Given the description of an element on the screen output the (x, y) to click on. 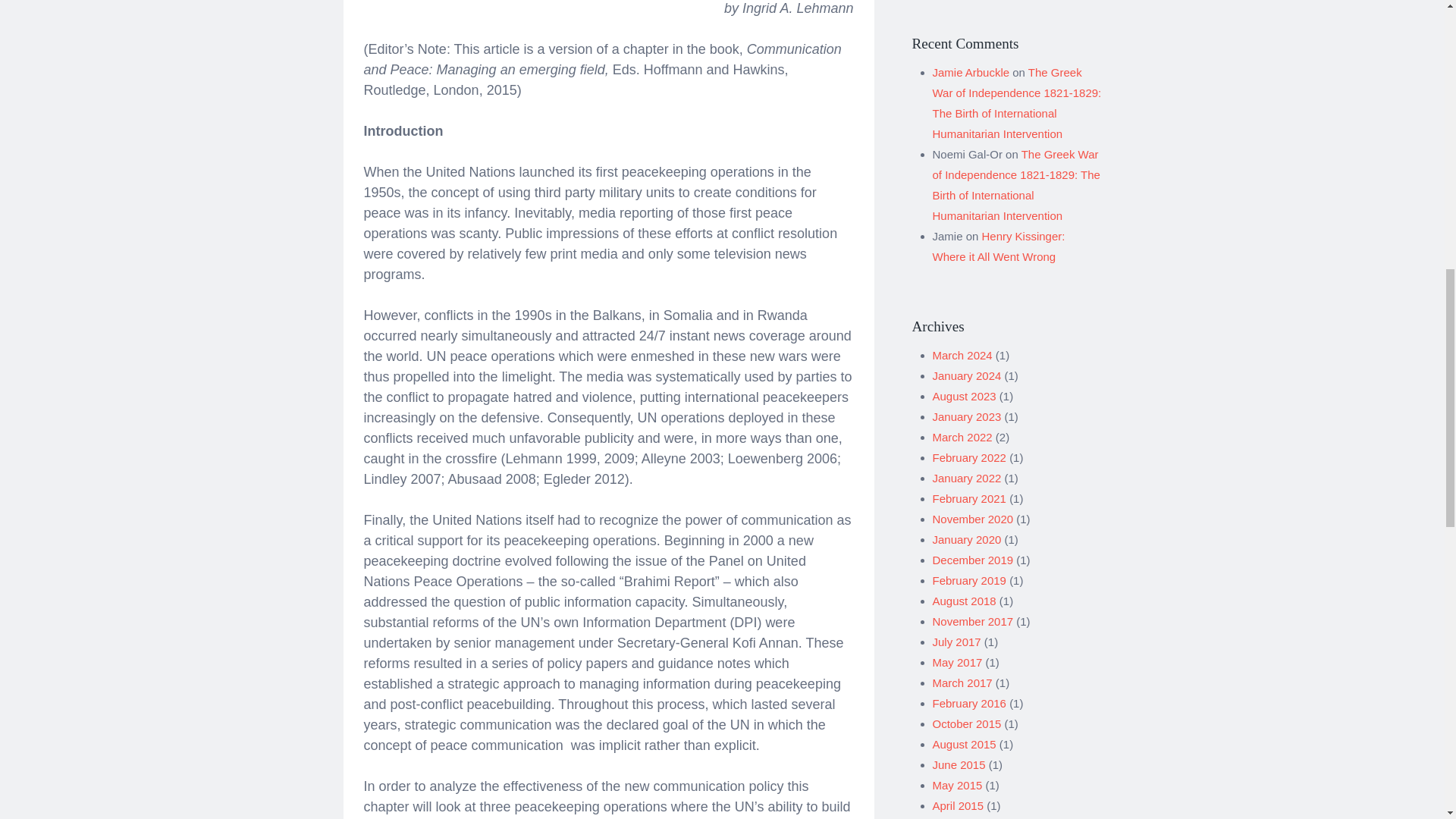
February 2022 (969, 457)
February 2021 (969, 498)
January 2020 (967, 539)
January 2024 (967, 375)
March 2022 (962, 436)
November 2020 (973, 518)
January 2023 (967, 416)
August 2023 (964, 395)
Henry Kissinger:  Where it All Went Wrong (1000, 246)
January 2022 (967, 477)
Jamie Arbuckle (971, 72)
March 2024 (962, 354)
